Given the description of an element on the screen output the (x, y) to click on. 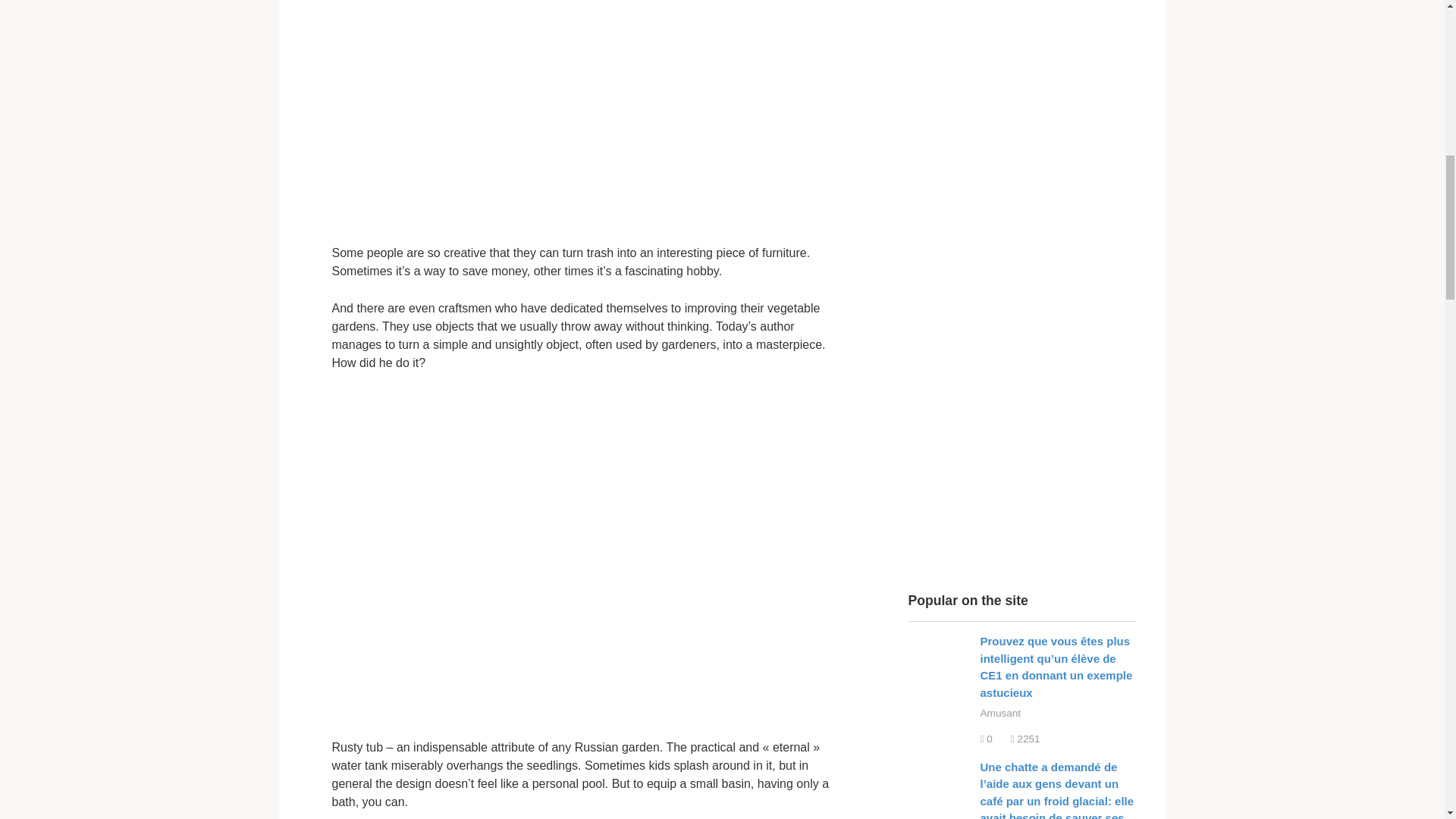
Views (1025, 738)
Comments (985, 738)
Amusant (999, 713)
